Given the description of an element on the screen output the (x, y) to click on. 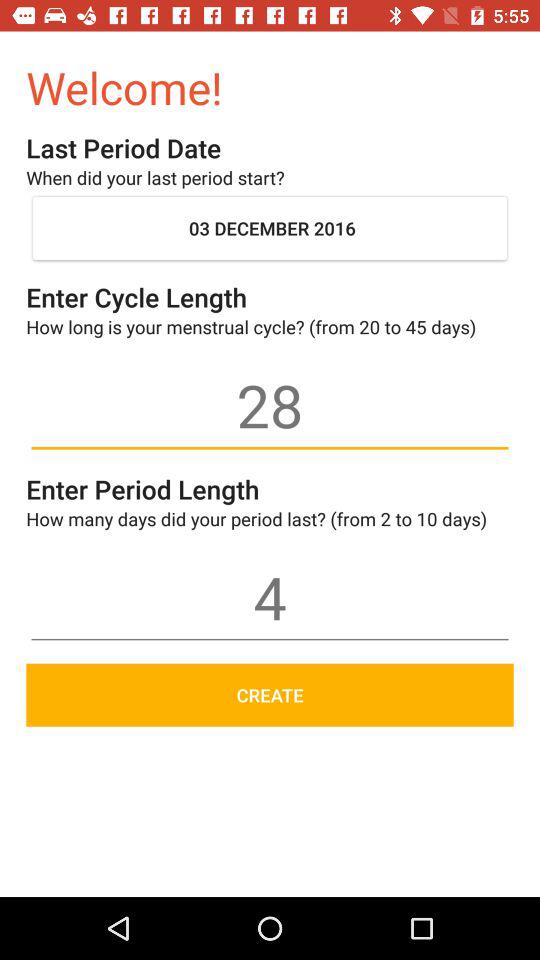
choose the icon below when did your item (270, 227)
